Given the description of an element on the screen output the (x, y) to click on. 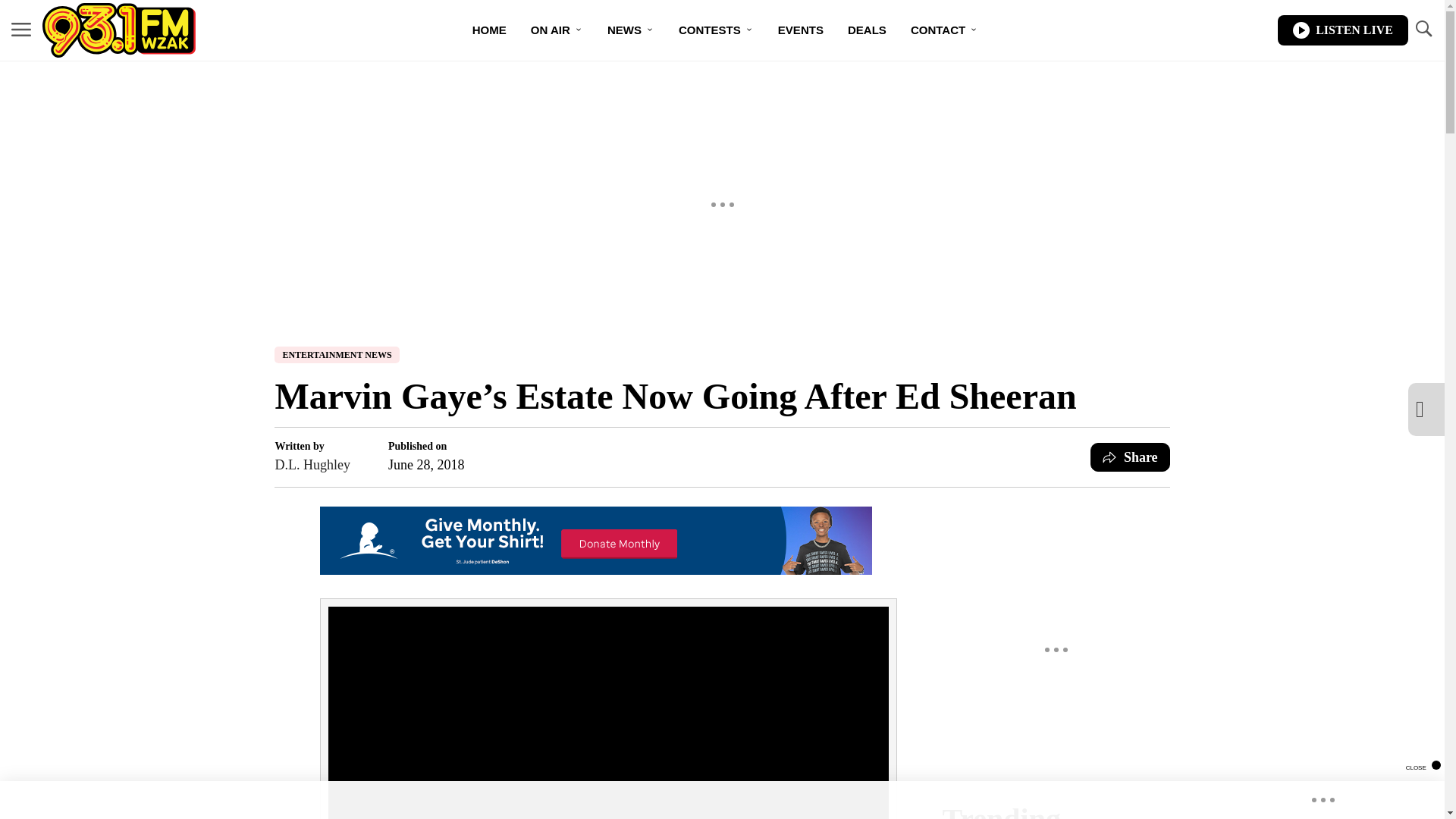
DEALS (866, 30)
CONTACT (944, 30)
CONTESTS (715, 30)
HOME (489, 30)
MENU (20, 29)
LISTEN LIVE (1342, 30)
St Jude (596, 570)
MENU (20, 30)
EVENTS (800, 30)
TOGGLE SEARCH (1422, 30)
